Given the description of an element on the screen output the (x, y) to click on. 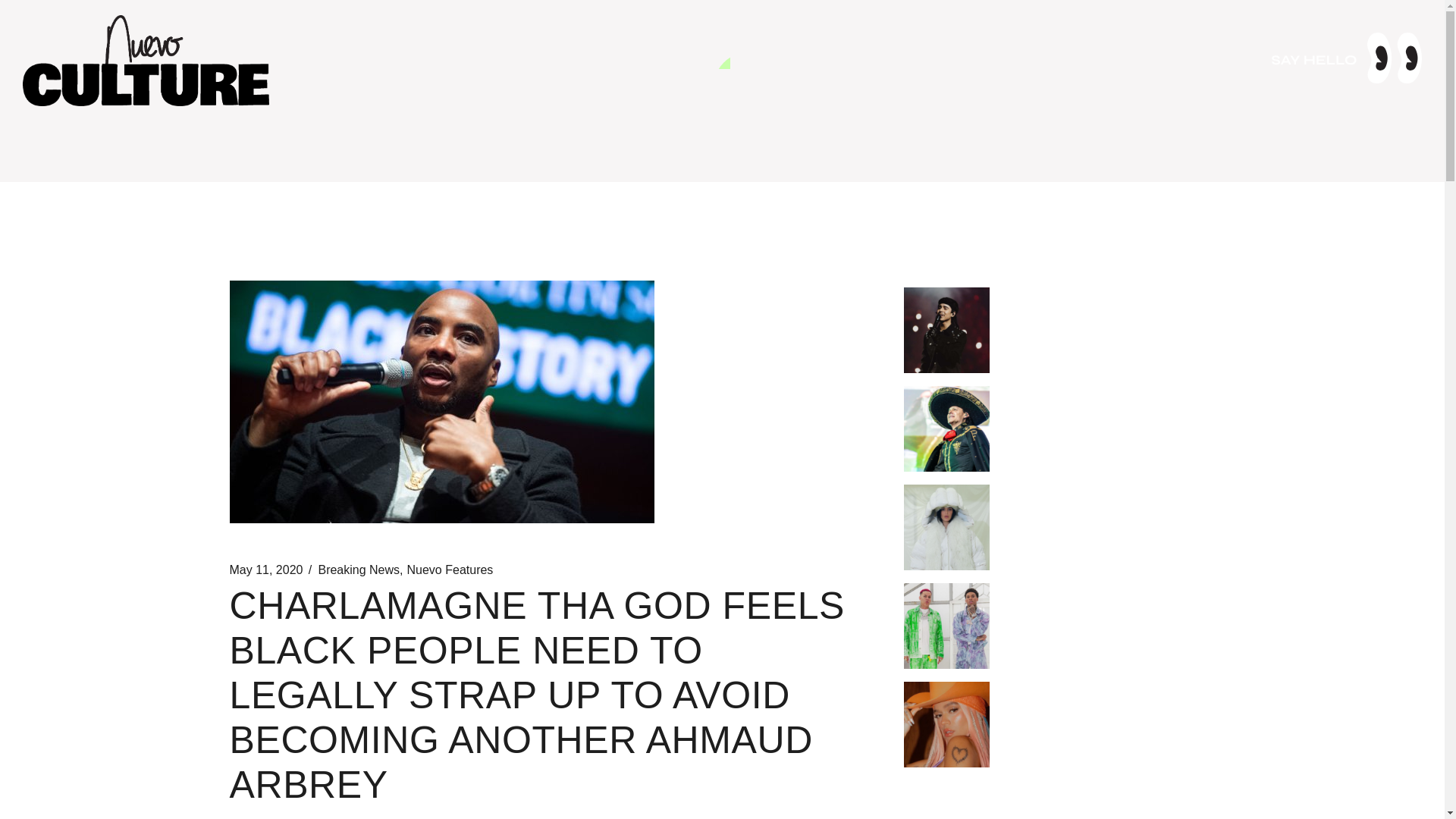
Breaking News (357, 570)
KAROL G DOMINATES THE 2024 HEAT LATIN MUSIC AWARDS (1101, 703)
May 11, 2020 (265, 570)
Nuevo Features (450, 570)
NATHY PELUSO WOWS IN NPR TINY DESK PERFORMANCE (1097, 506)
